Given the description of an element on the screen output the (x, y) to click on. 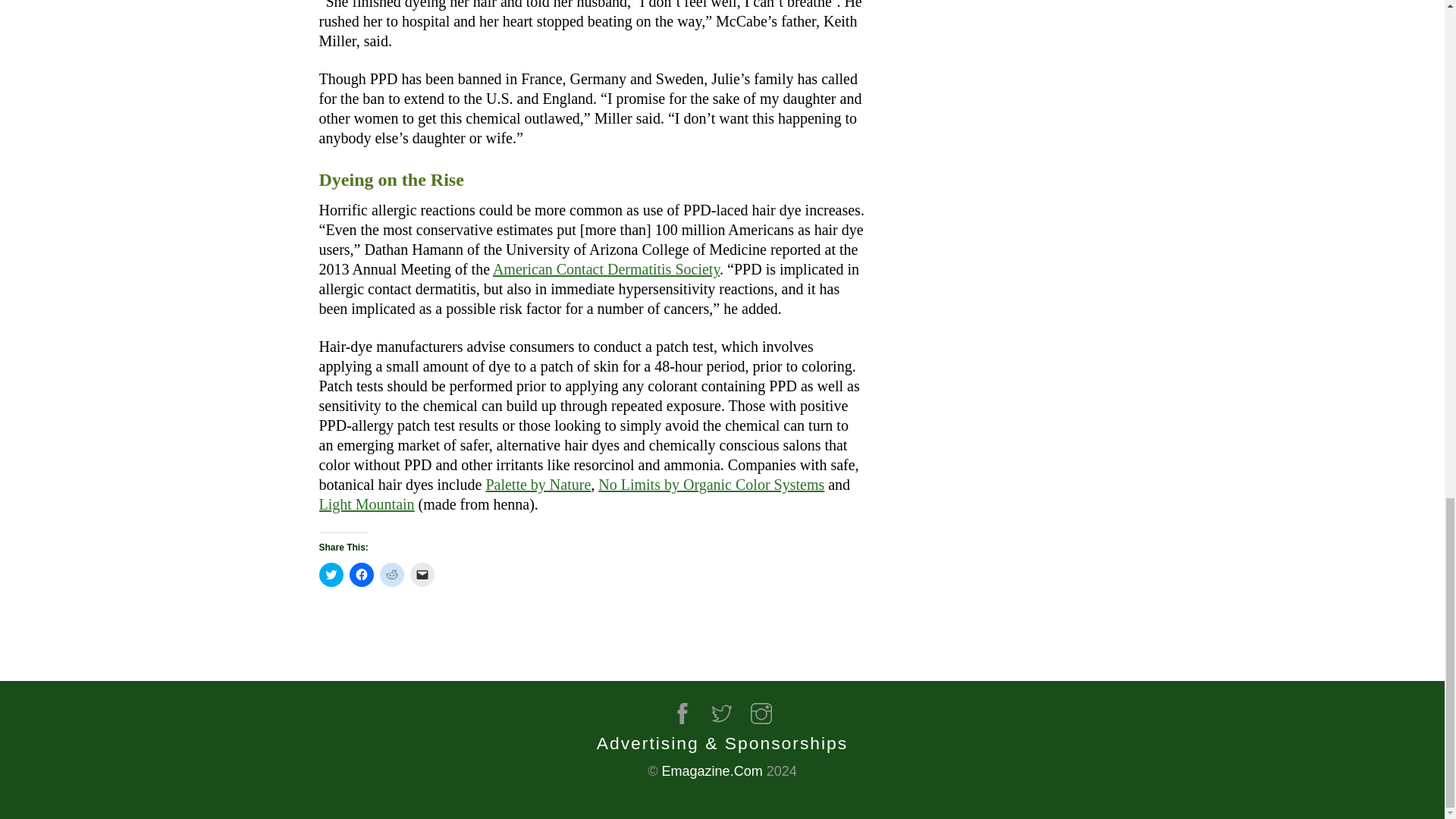
Light Mountain (365, 504)
Palette by Nature (537, 484)
No Limits by Organic Color Systems (711, 484)
Emagazine.Com (712, 770)
American Contact Dermatitis Society (606, 269)
Click to share on Twitter (330, 574)
Click to share on Reddit (390, 574)
Click to email a link to a friend (421, 574)
Click to share on Facebook (360, 574)
